Given the description of an element on the screen output the (x, y) to click on. 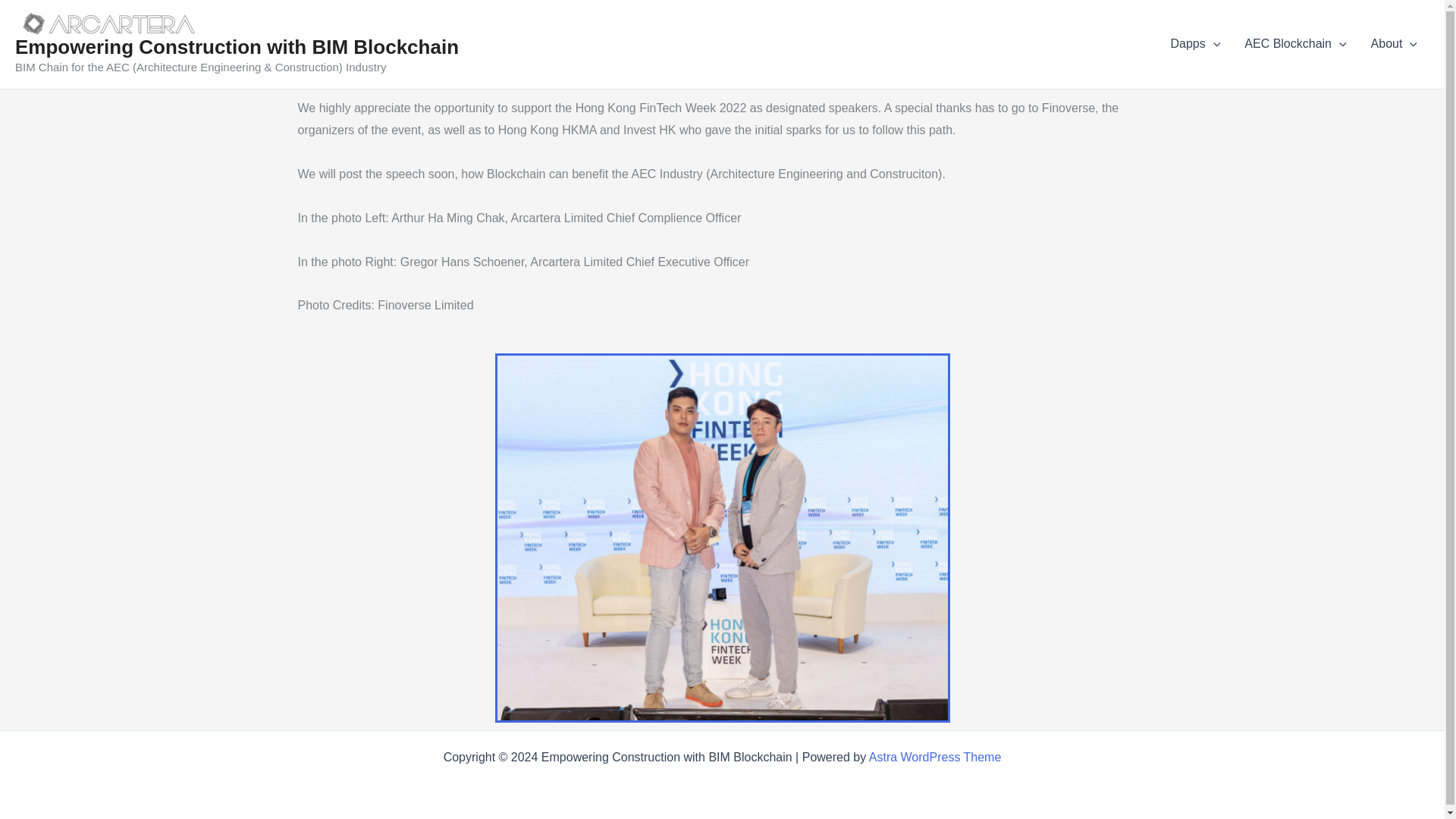
Empowering Construction with BIM Blockchain (236, 47)
AEC Blockchain (1294, 43)
About (1393, 43)
Dapps (1194, 43)
